Given the description of an element on the screen output the (x, y) to click on. 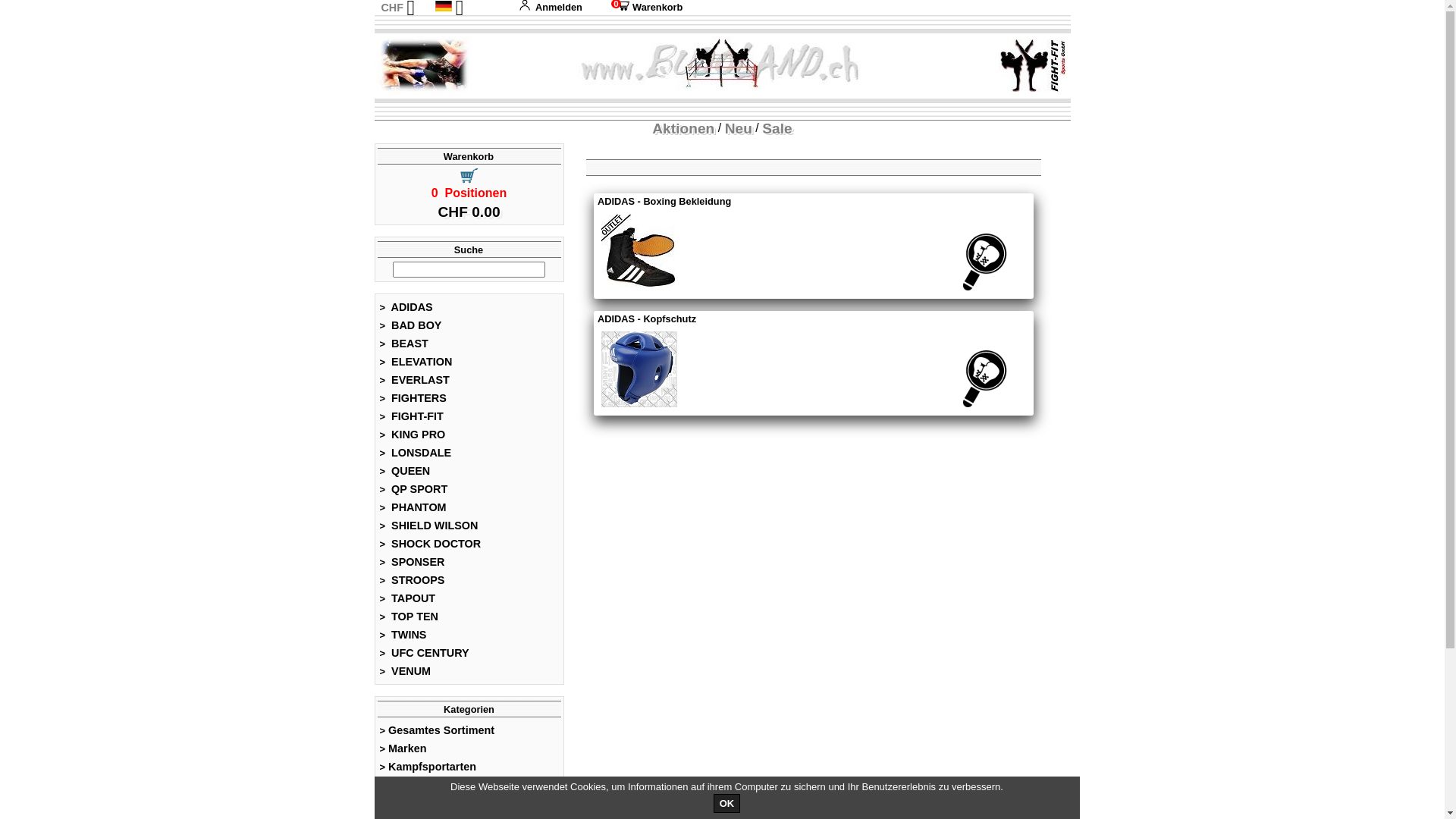
 0  Warenkorb Element type: text (643, 6)
ADIDAS - Boxing Bekleidung Element type: hover (639, 252)
Deutsch Element type: hover (443, 5)
>  LONSDALE Element type: text (415, 452)
Sale Element type: text (776, 128)
Neu Element type: text (738, 128)
>  EVERLAST Element type: text (414, 379)
>  KING PRO Element type: text (412, 434)
>  FIGHTERS Element type: text (412, 397)
>  TWINS Element type: text (402, 634)
>  SHOCK DOCTOR Element type: text (430, 543)
English Element type: text (462, 22)
Details Element type: hover (984, 378)
>  FIGHT-FIT Element type: text (411, 416)
Anmelden Element type: text (550, 6)
>  VENUM Element type: text (405, 670)
>  BAD BOY Element type: text (410, 325)
>  SHIELD WILSON Element type: text (428, 525)
>  TAPOUT Element type: text (407, 598)
>  STROOPS Element type: text (412, 579)
>  BEAST Element type: text (403, 343)
> Marken Element type: text (402, 748)
>  UFC CENTURY Element type: text (424, 652)
>  QUEEN Element type: text (404, 470)
ADIDAS - Kopfschutz Element type: hover (639, 369)
EUR Element type: text (390, 22)
ADIDAS - Boxing Bekleidung Element type: text (802, 201)
>  ELEVATION Element type: text (415, 361)
ADIDAS - Kopfschutz Element type: text (802, 318)
Suche Element type: text (468, 249)
Details Element type: hover (984, 261)
USD Element type: text (390, 38)
>  PHANTOM Element type: text (412, 507)
> Damen und Kinder Element type: text (432, 784)
> Gesamtes Sortiment Element type: text (437, 730)
>  TOP TEN Element type: text (408, 616)
Aktionen Element type: text (683, 128)
>  ADIDAS Element type: text (406, 306)
>  SPONSER Element type: text (412, 561)
CHF Element type: text (391, 7)
>  QP SPORT Element type: text (413, 488)
Warenkorb Element type: text (468, 156)
> Kampfsportarten Element type: text (427, 766)
Italiano Element type: text (462, 54)
OK Element type: text (726, 802)
